Given the description of an element on the screen output the (x, y) to click on. 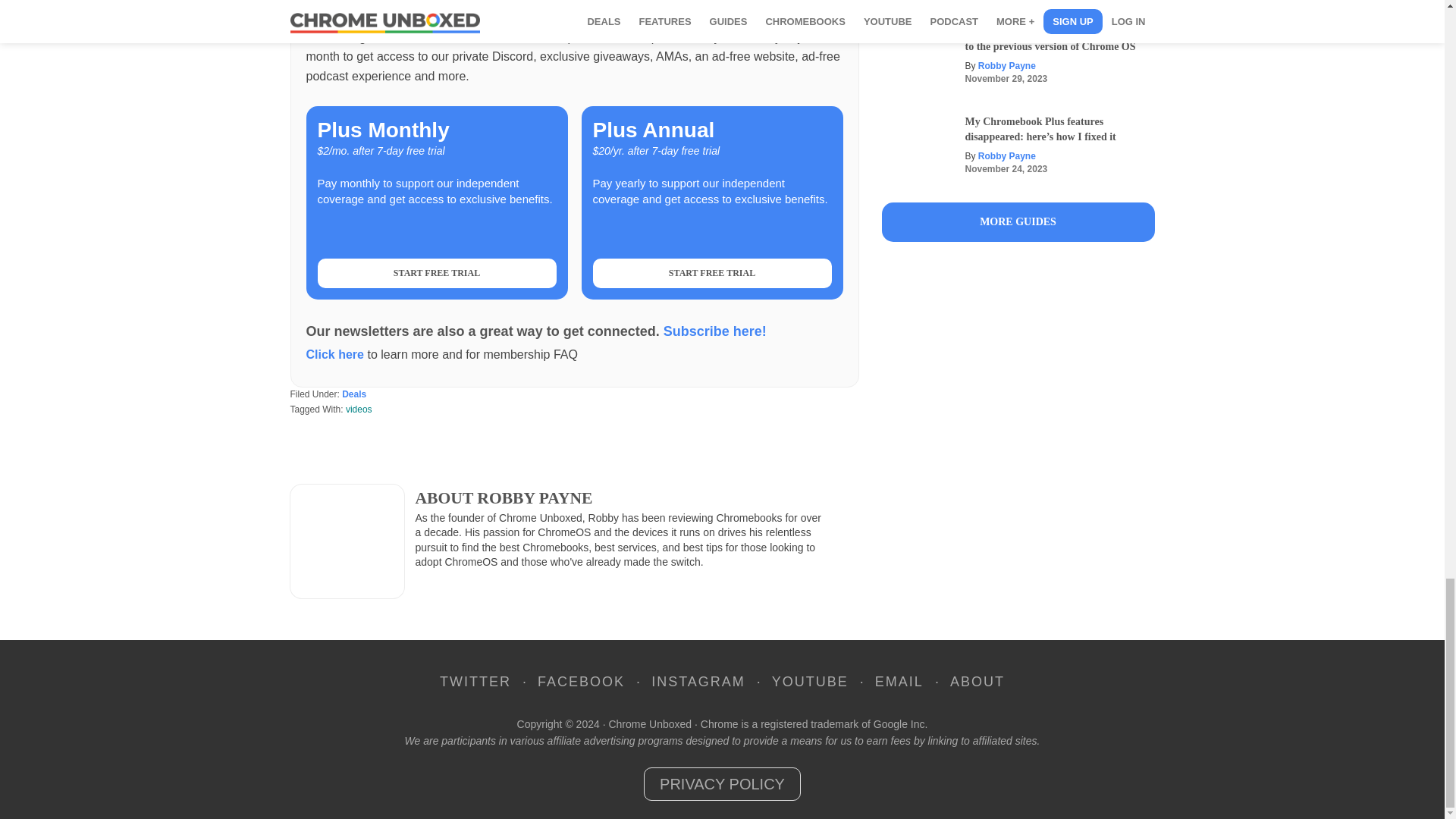
Guides and How-To's (1017, 221)
